Given the description of an element on the screen output the (x, y) to click on. 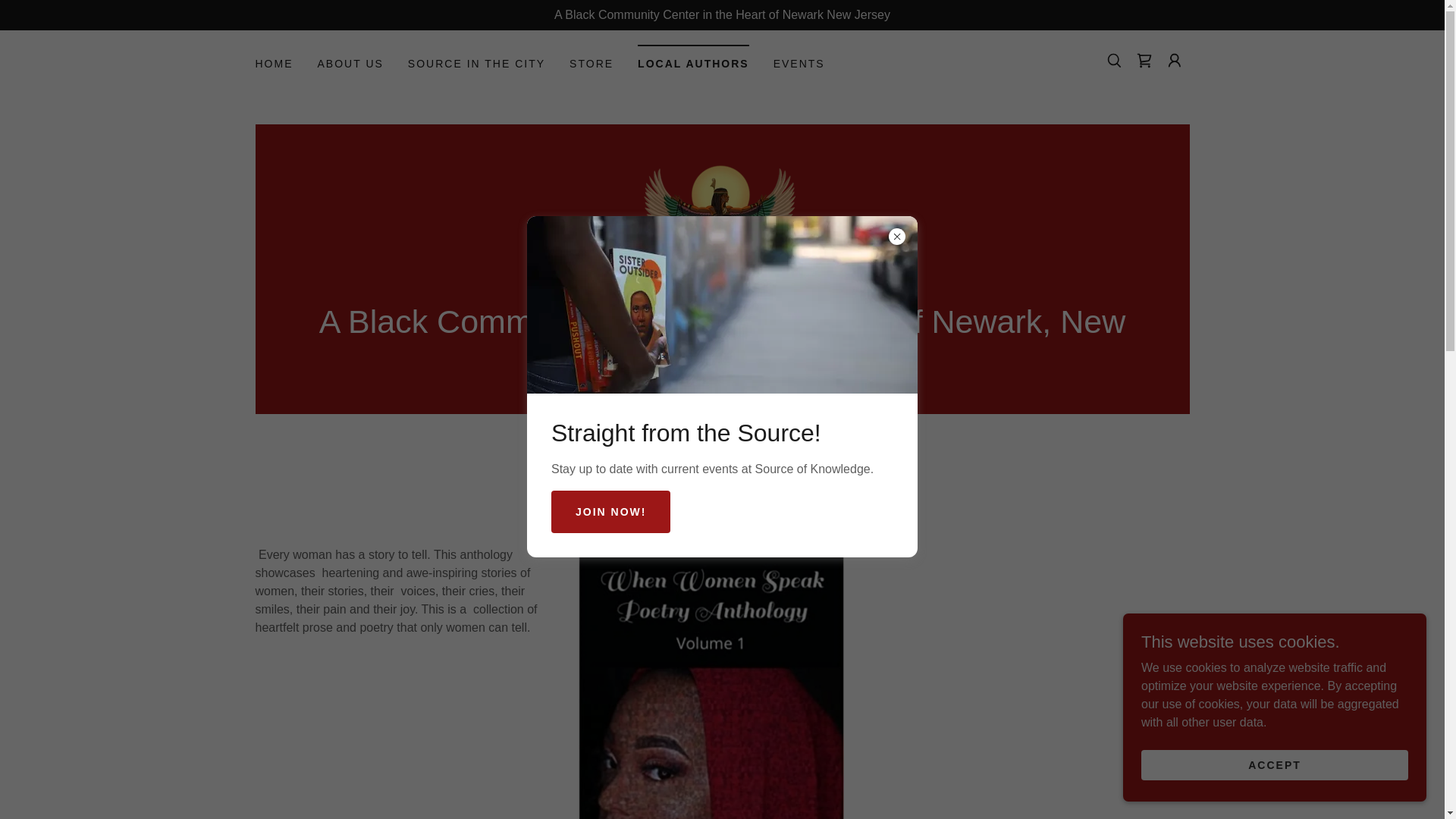
EVENTS (798, 62)
HOME (273, 62)
Source of Knowledge Bookstore (721, 220)
LOCAL AUTHORS (693, 58)
ABOUT US (350, 62)
ACCEPT (1274, 764)
SOURCE IN THE CITY (476, 62)
STORE (590, 62)
JOIN NOW! (610, 511)
